Given the description of an element on the screen output the (x, y) to click on. 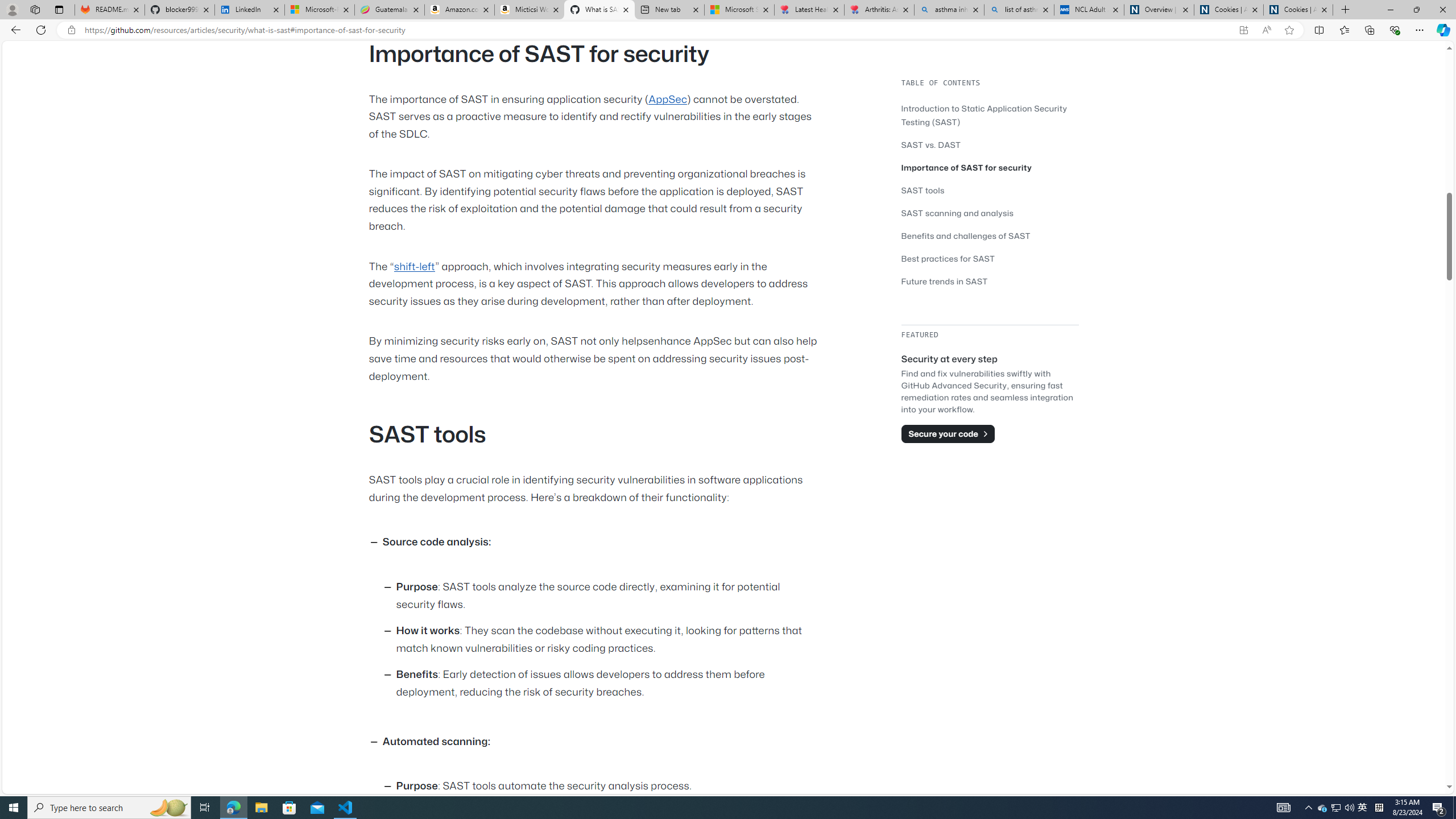
Future trends in SAST (989, 281)
SAST tools (989, 190)
asthma inhaler - Search (949, 9)
Best practices for SAST (948, 258)
Best practices for SAST (989, 258)
SAST scanning and analysis (989, 212)
